Given the description of an element on the screen output the (x, y) to click on. 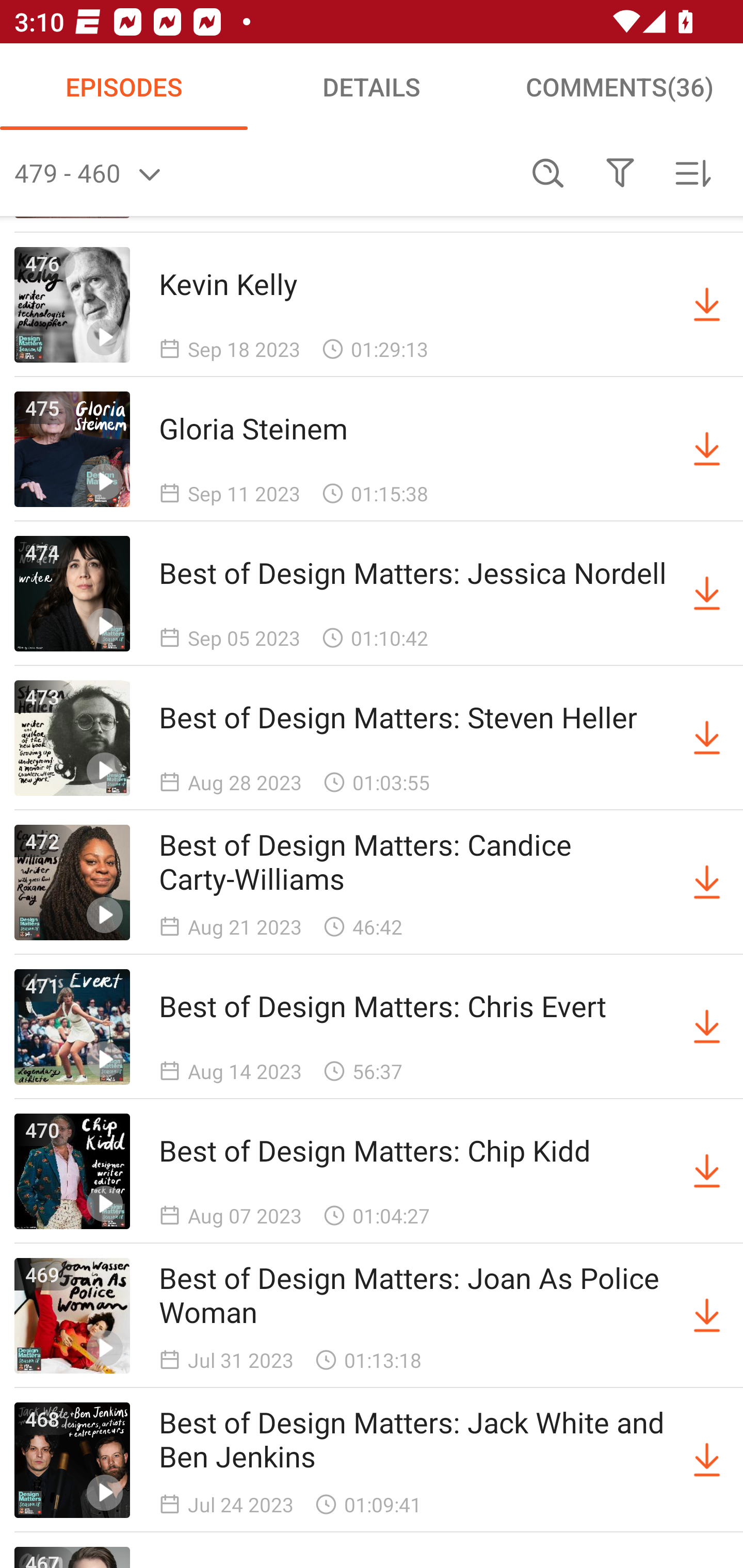
EPISODES (123, 86)
DETAILS (371, 86)
COMMENTS(36) (619, 86)
479 - 460  (262, 173)
 Search (547, 173)
 (619, 173)
 Sorted by newest first (692, 173)
Download (706, 304)
Download (706, 449)
Download (706, 593)
Download (706, 738)
Download (706, 882)
Download (706, 1027)
Download (706, 1171)
Download (706, 1315)
Download (706, 1459)
